Given the description of an element on the screen output the (x, y) to click on. 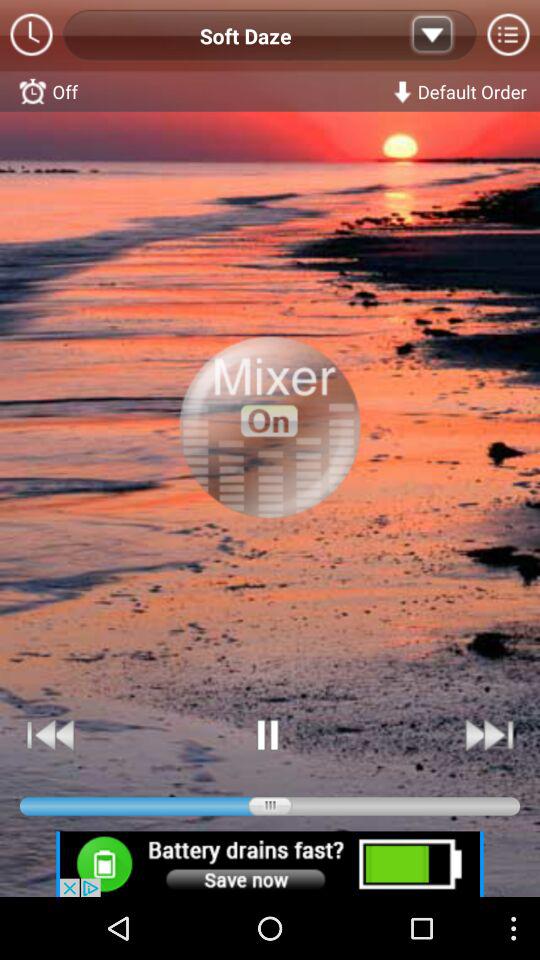
list button (432, 35)
